Given the description of an element on the screen output the (x, y) to click on. 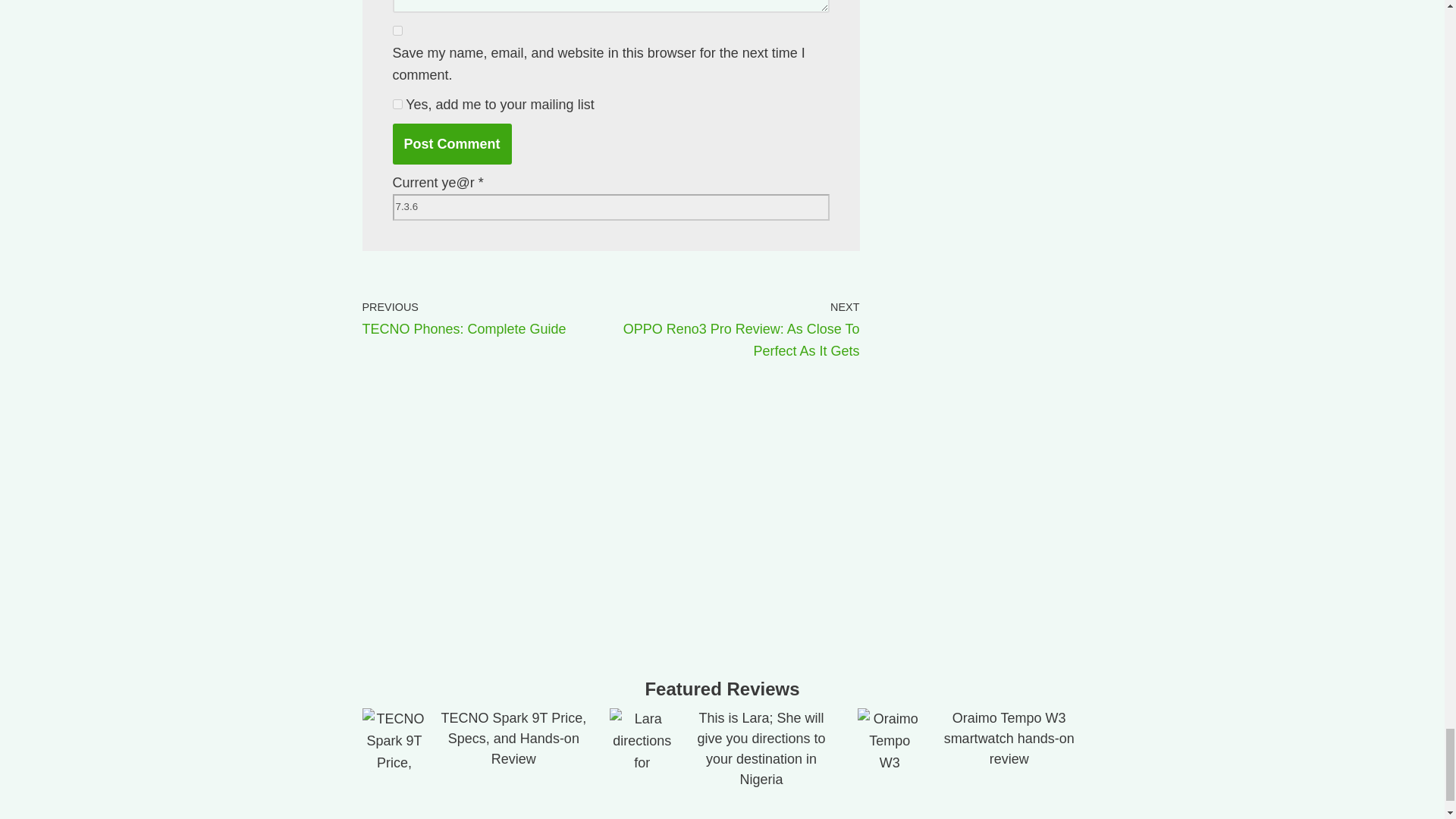
7.3.6 (611, 207)
yes (398, 30)
Post Comment (452, 144)
1 (398, 103)
